Given the description of an element on the screen output the (x, y) to click on. 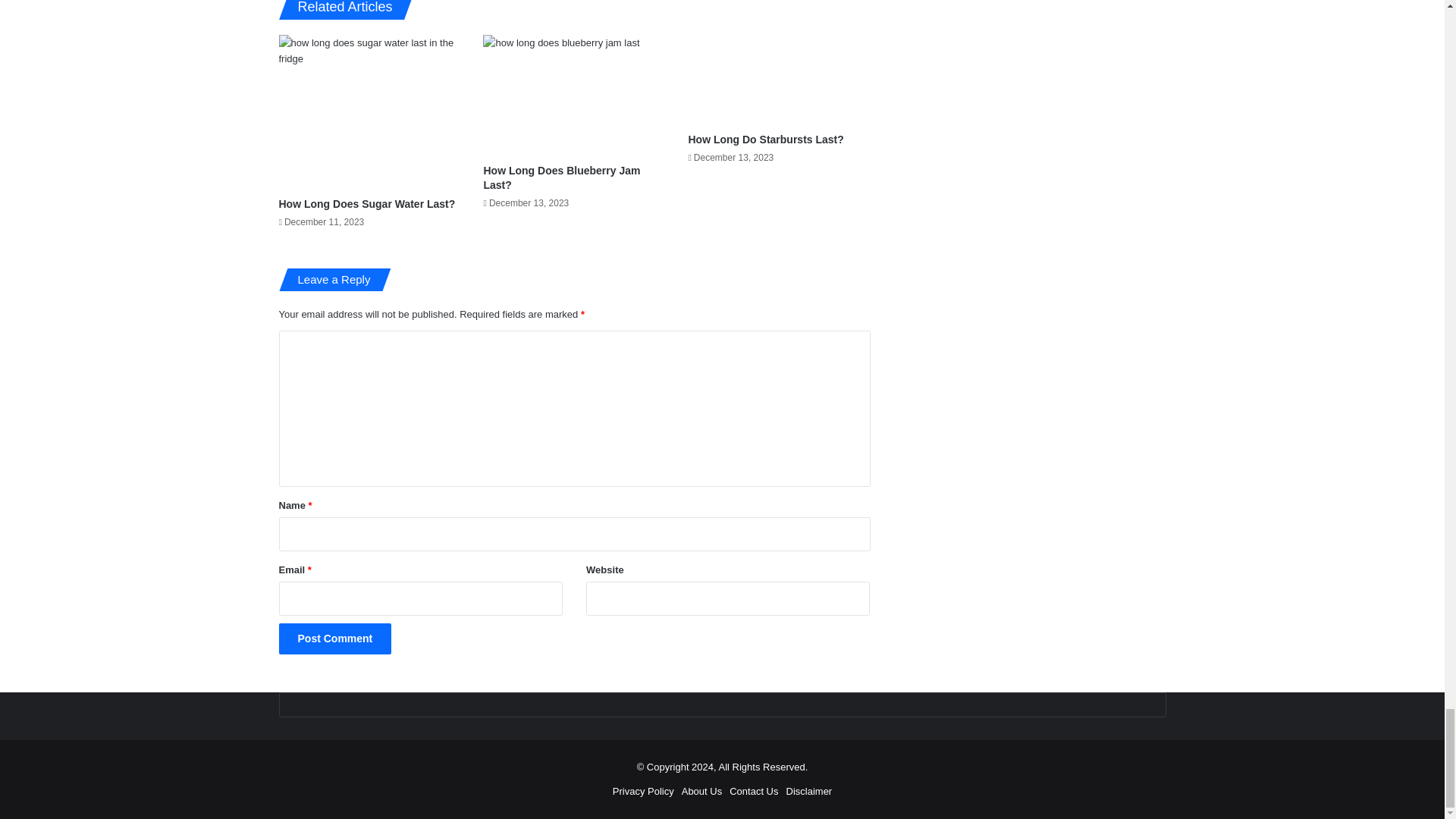
How Long Does Sugar Water Last? (367, 203)
How Long Does Blueberry Jam Last? (561, 177)
Post Comment (335, 638)
